Given the description of an element on the screen output the (x, y) to click on. 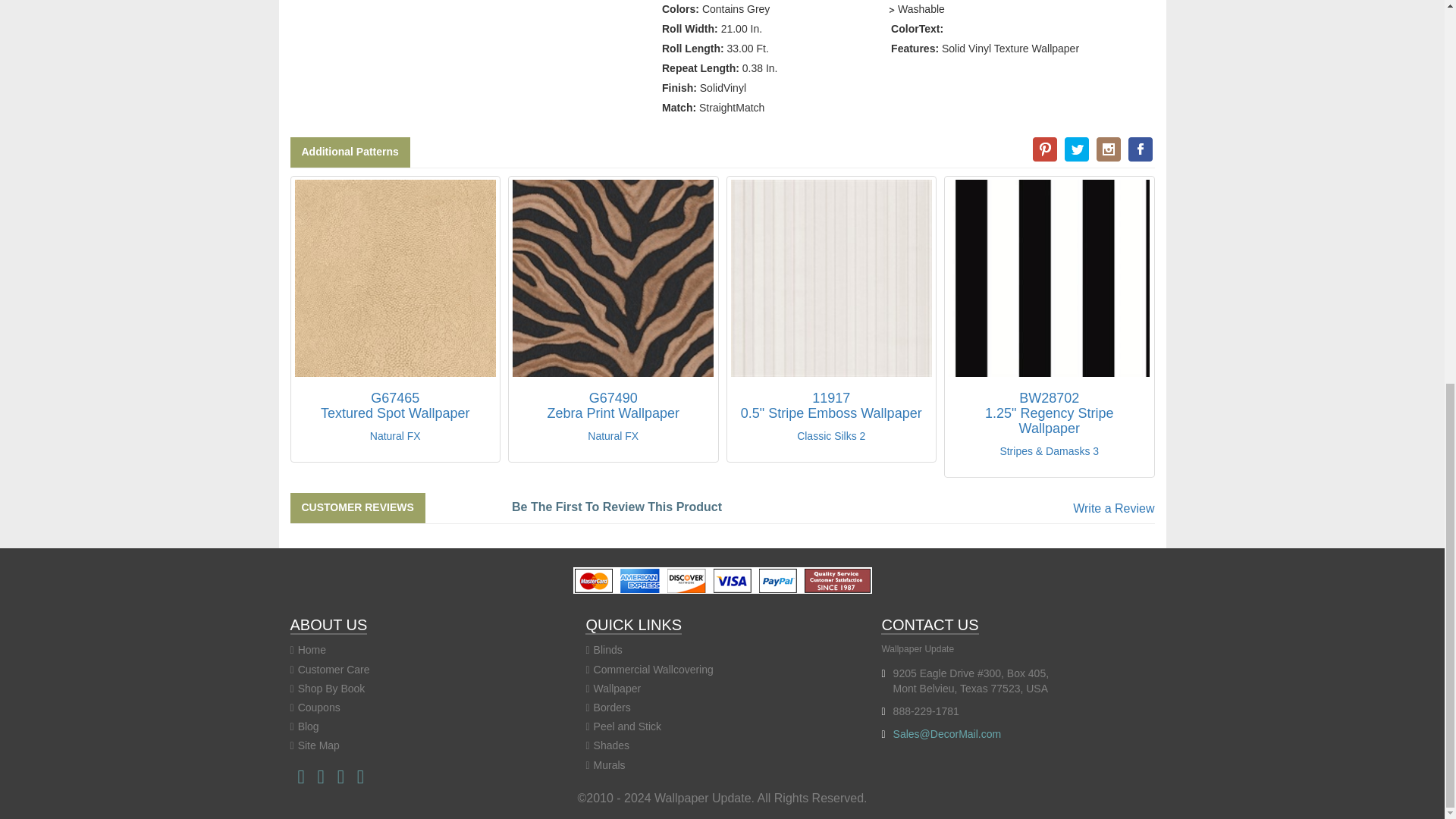
Natural FX (394, 405)
Natural FX (613, 405)
